Given the description of an element on the screen output the (x, y) to click on. 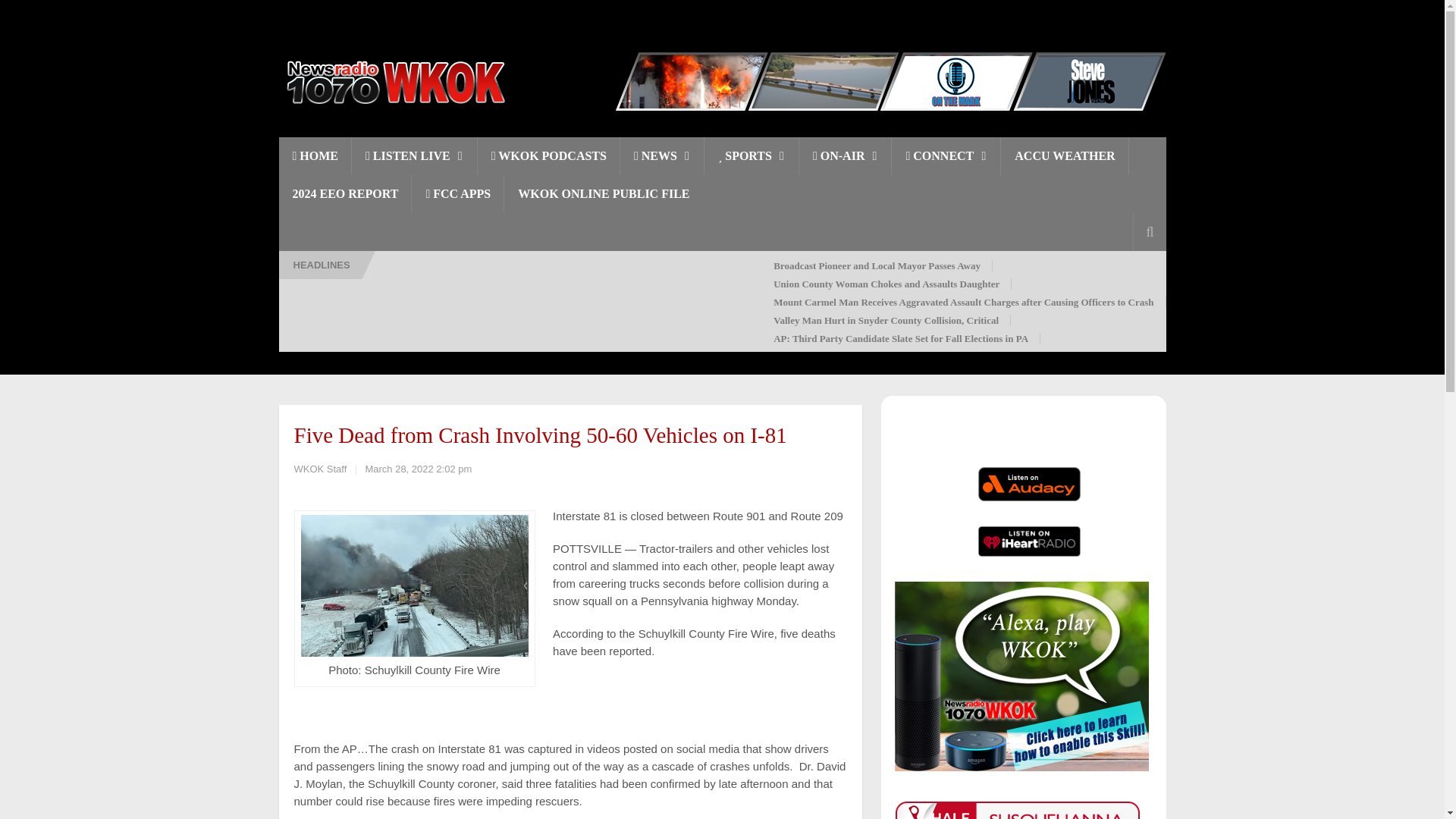
SPORTS (751, 156)
WKOK PODCASTS (548, 156)
HOME (315, 156)
Posts by WKOK Staff (320, 469)
LISTEN LIVE (414, 156)
ON-AIR (845, 156)
NEWS (662, 156)
CONNECT (946, 156)
